Given the description of an element on the screen output the (x, y) to click on. 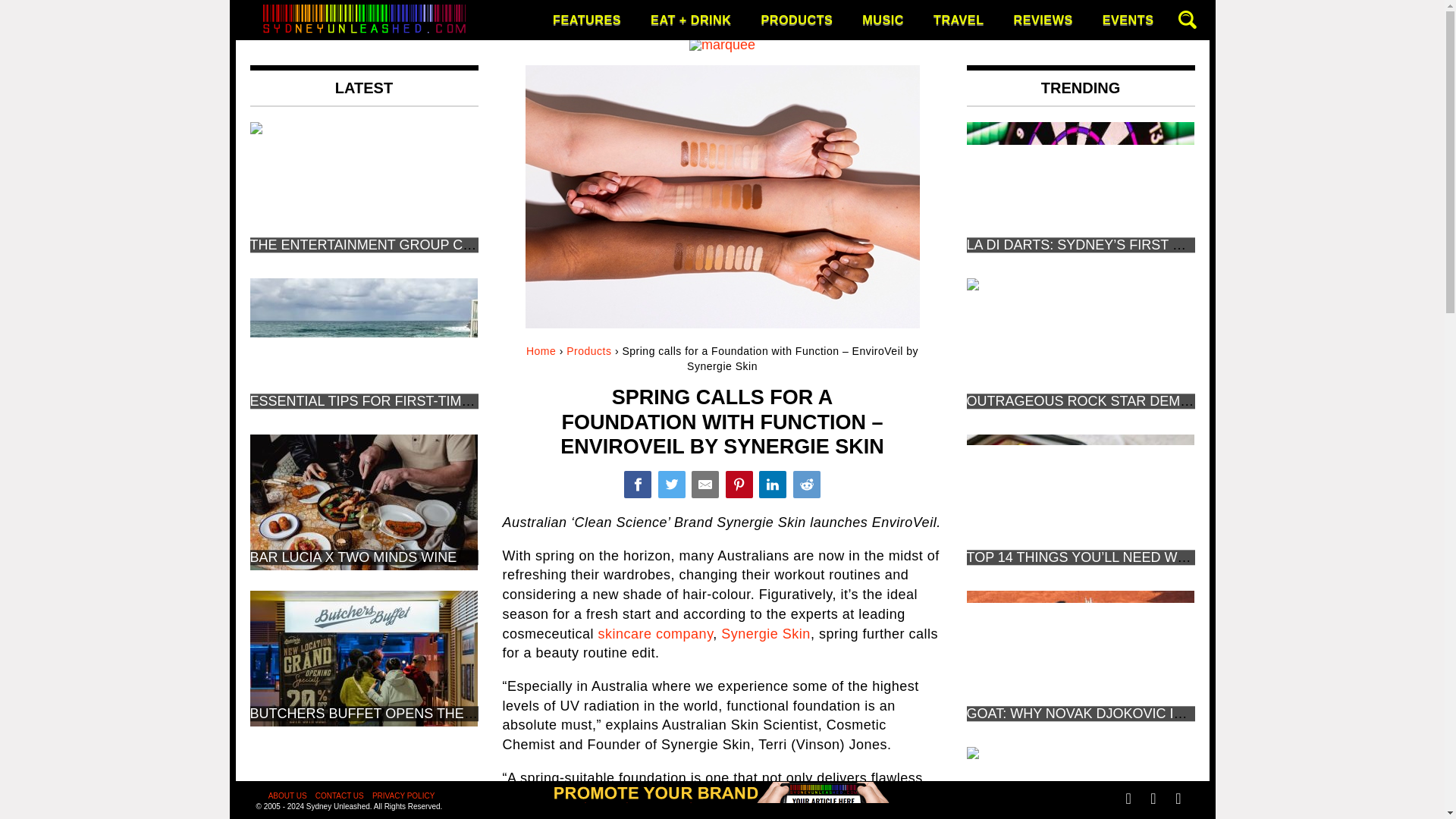
EVENTS (1128, 19)
PRODUCTS (796, 19)
Pinterest (738, 483)
TRAVEL (958, 19)
Upload Your Featured Post (721, 812)
REVIEWS (1043, 19)
ESSENTIAL TIPS FOR FIRST-TIME VISITORS TO SYDNEY (435, 400)
BAR LUCIA X TWO MINDS WINES EXCLUSIVE CANDLELIGHT DINNER (475, 557)
Synergie Skin (765, 633)
